Given the description of an element on the screen output the (x, y) to click on. 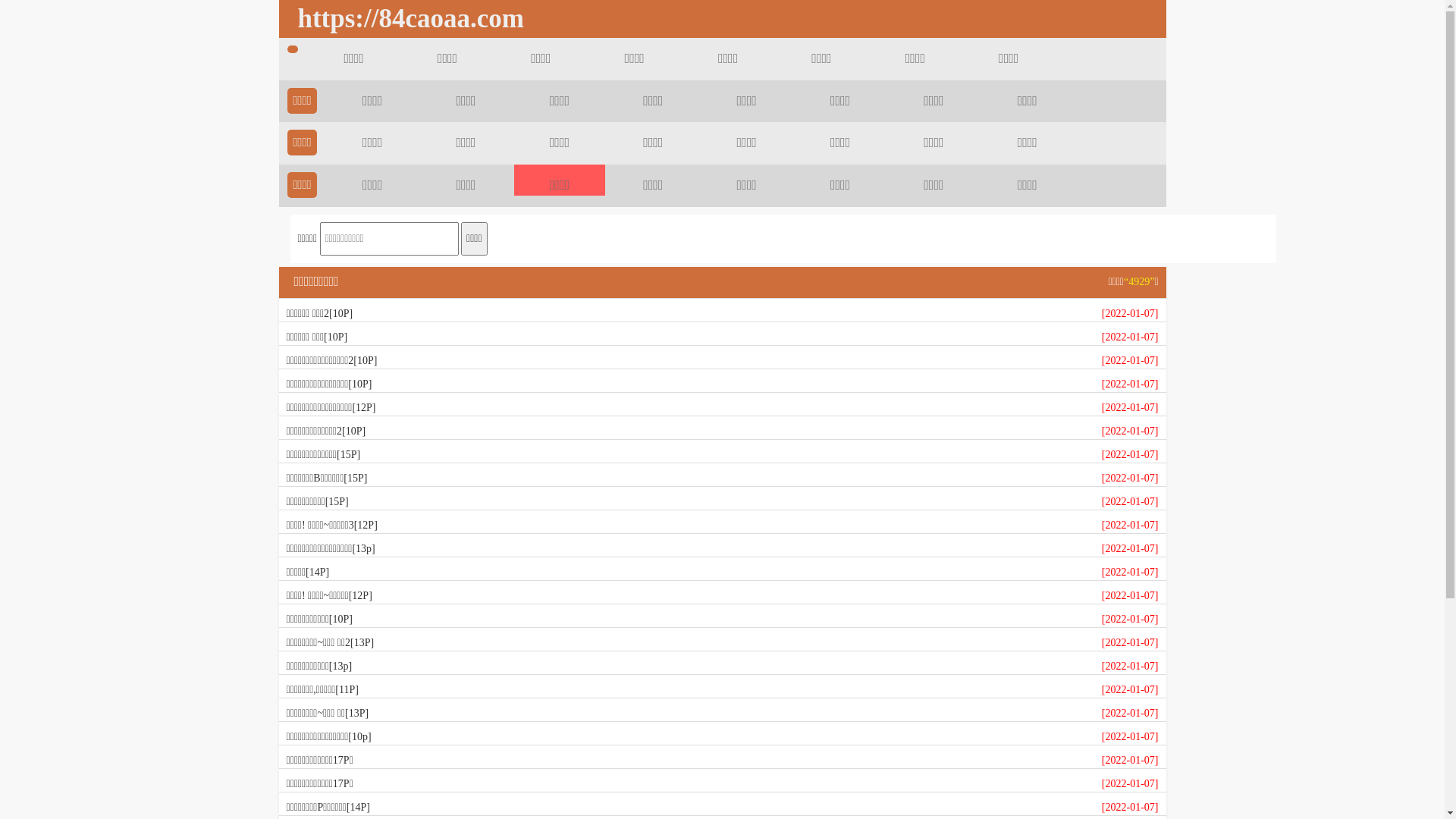
https://84caoaa.com Element type: text (406, 18)
